Given the description of an element on the screen output the (x, y) to click on. 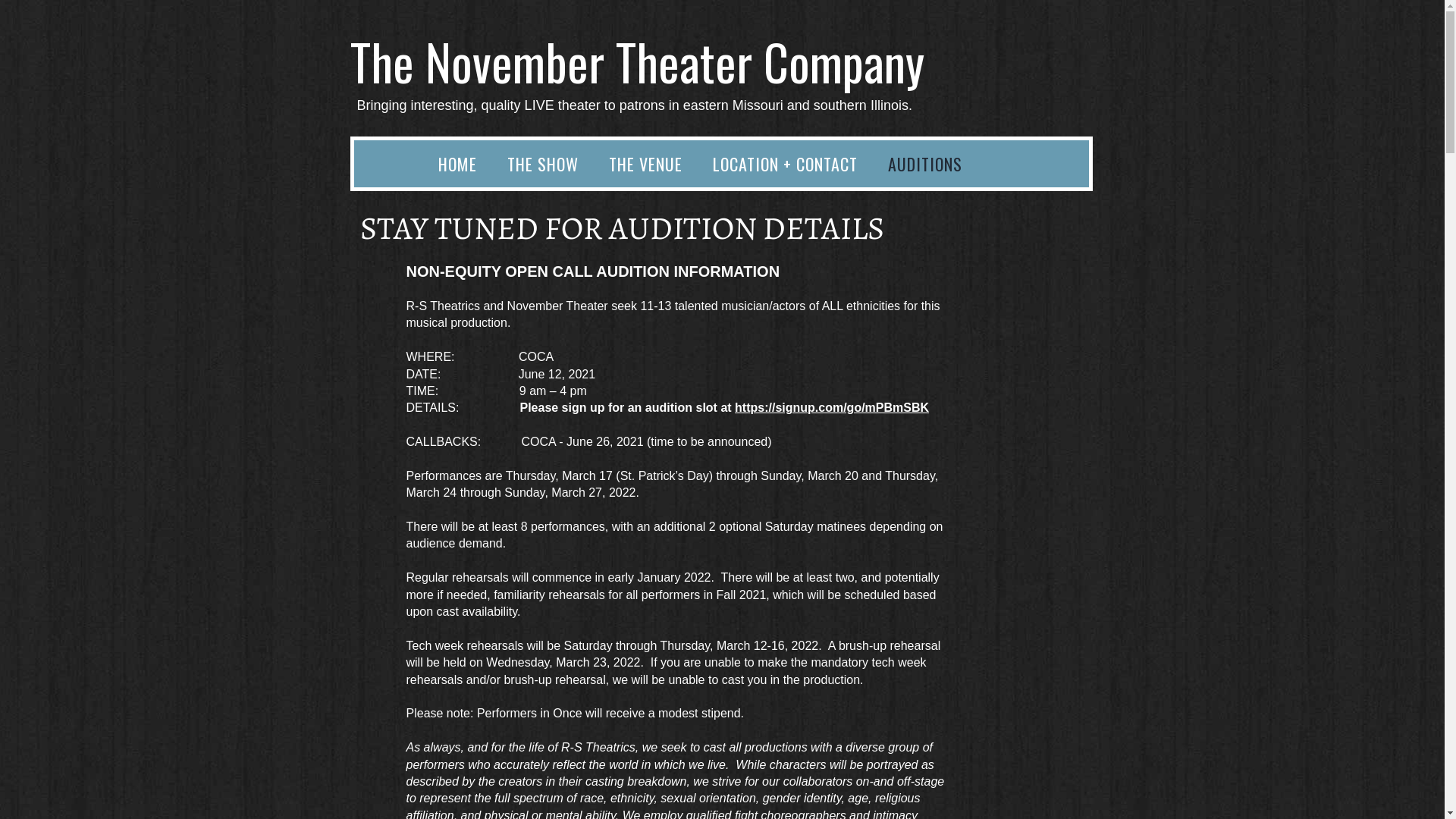
AUDITIONS Element type: text (924, 163)
HOME Element type: text (457, 163)
THE VENUE Element type: text (644, 163)
THE SHOW Element type: text (542, 163)
LOCATION + CONTACT Element type: text (784, 163)
https://signup.com/go/mPBmSBK Element type: text (831, 407)
